Given the description of an element on the screen output the (x, y) to click on. 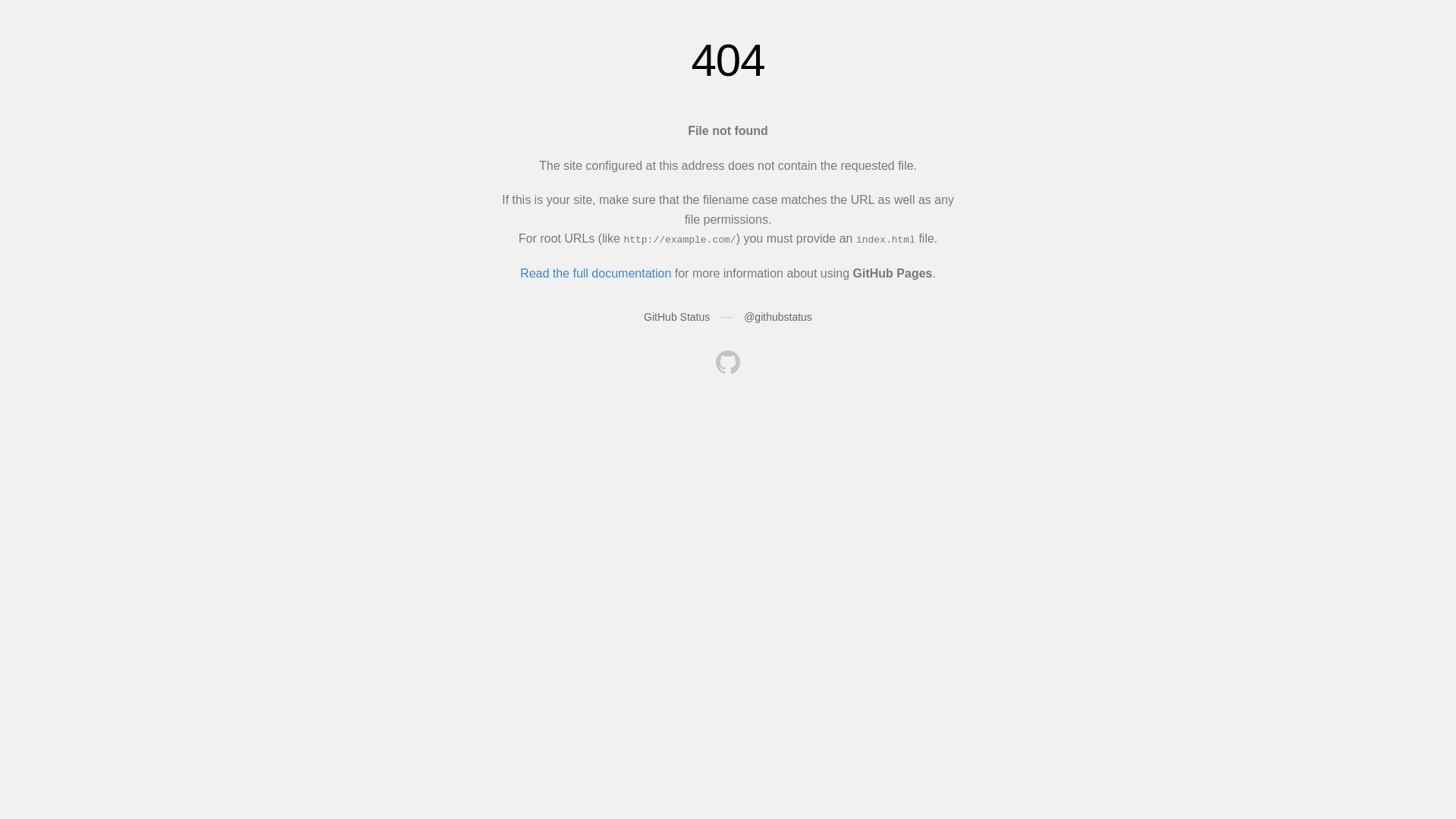
GitHub Status Element type: text (676, 316)
@githubstatus Element type: text (777, 316)
Read the full documentation Element type: text (595, 272)
